Given the description of an element on the screen output the (x, y) to click on. 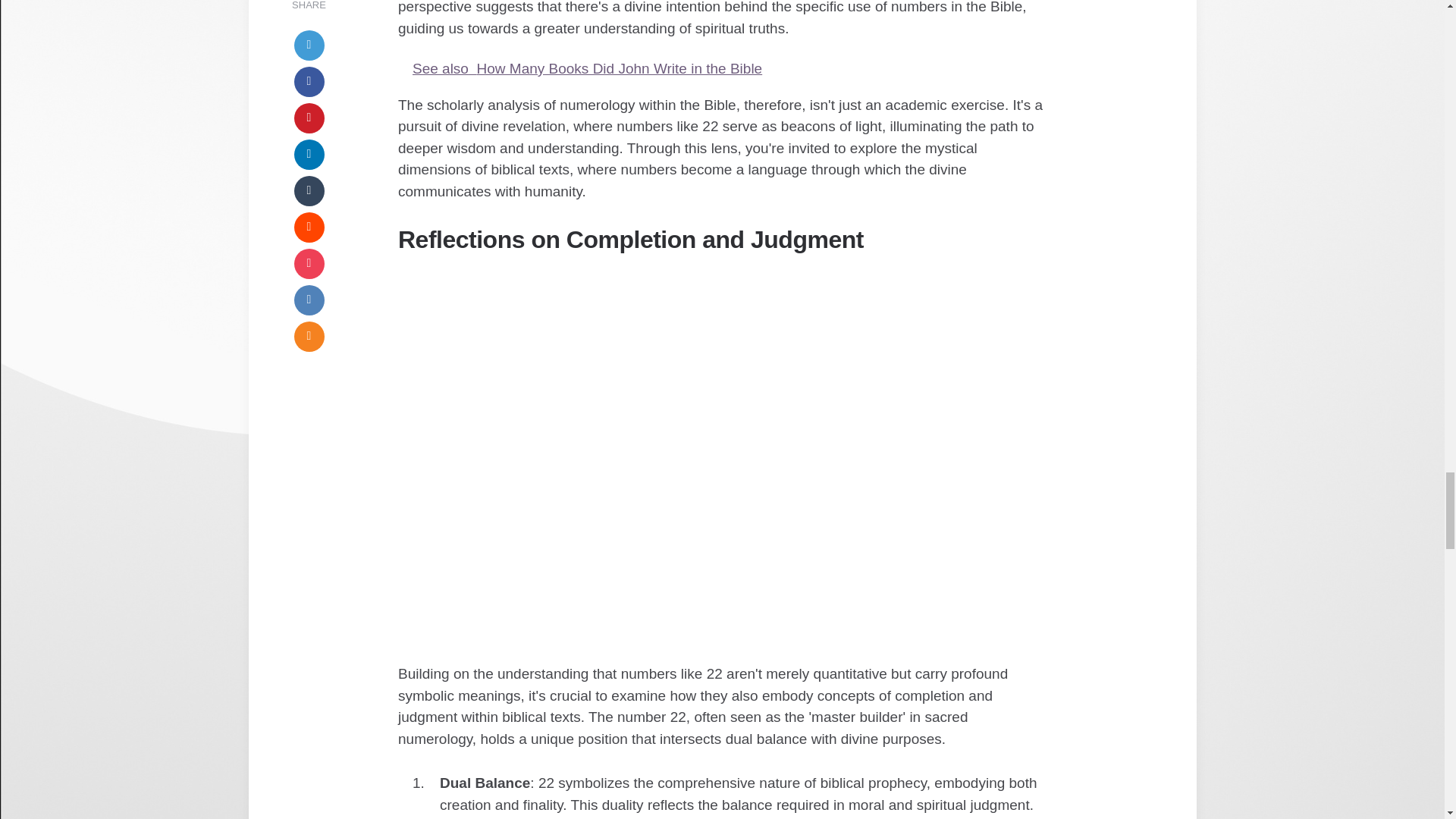
See also  How Many Books Did John Write in the Bible (721, 69)
